Given the description of an element on the screen output the (x, y) to click on. 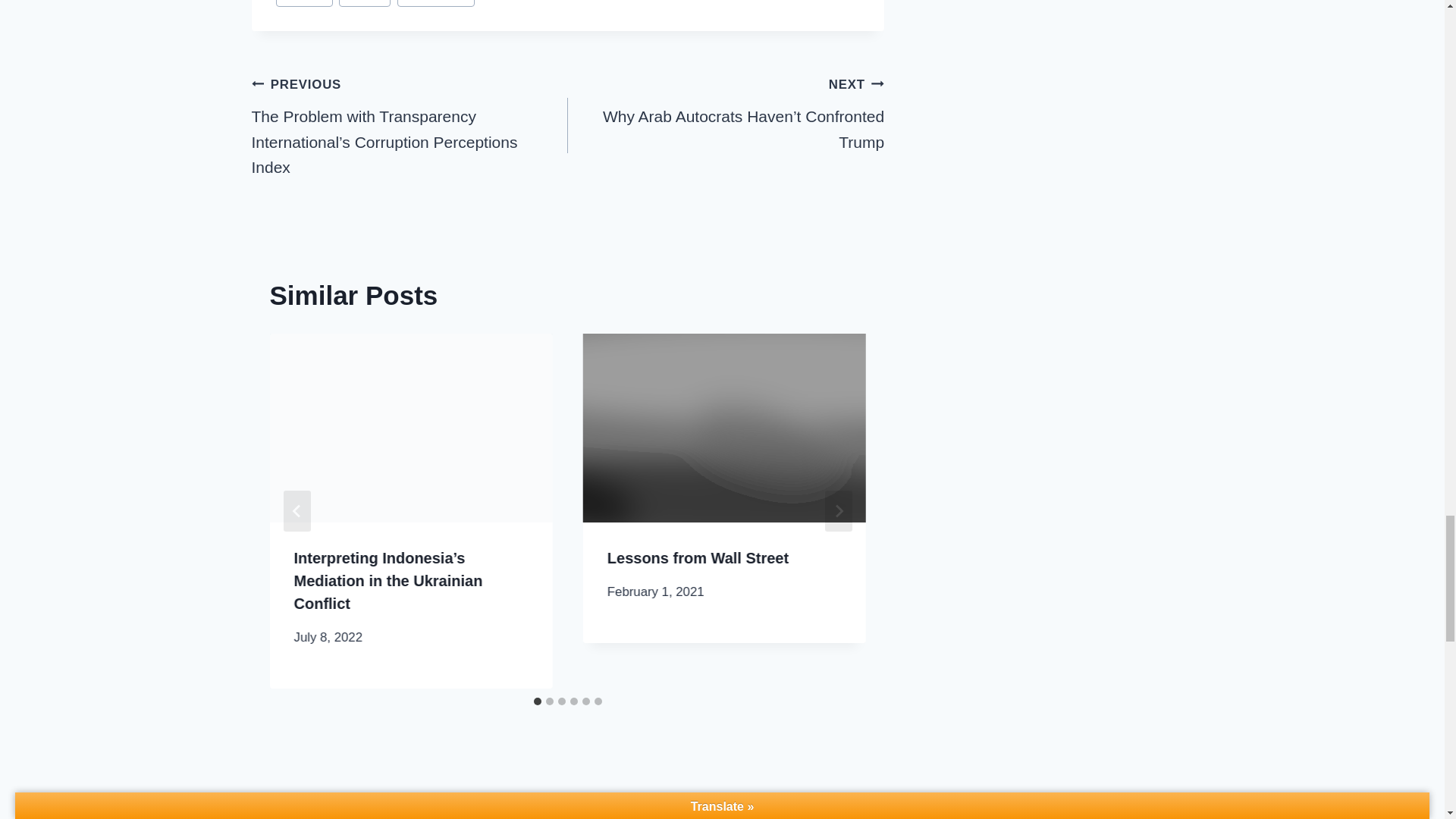
China (304, 2)
India (364, 2)
Sri Lanka (435, 2)
